Given the description of an element on the screen output the (x, y) to click on. 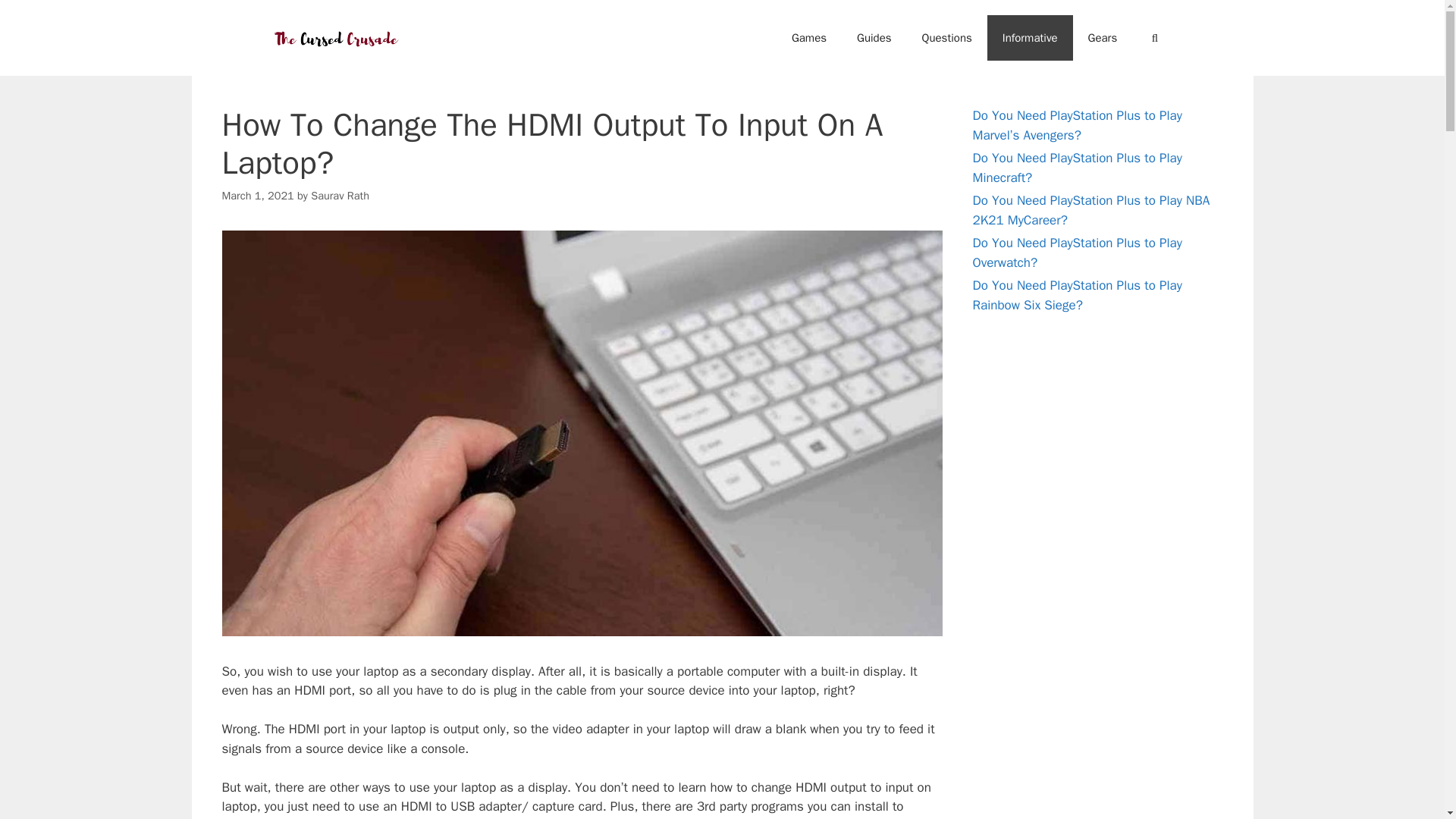
Games (808, 37)
Do You Need PlayStation Plus to Play Overwatch? (1076, 253)
Saurav Rath (340, 195)
Questions (947, 37)
Do You Need PlayStation Plus to Play Rainbow Six Siege? (1076, 294)
Do You Need PlayStation Plus to Play NBA 2K21 MyCareer? (1090, 210)
Gears (1102, 37)
Informative (1030, 37)
View all posts by Saurav Rath (340, 195)
Do You Need PlayStation Plus to Play Minecraft? (1076, 167)
Guides (874, 37)
